Given the description of an element on the screen output the (x, y) to click on. 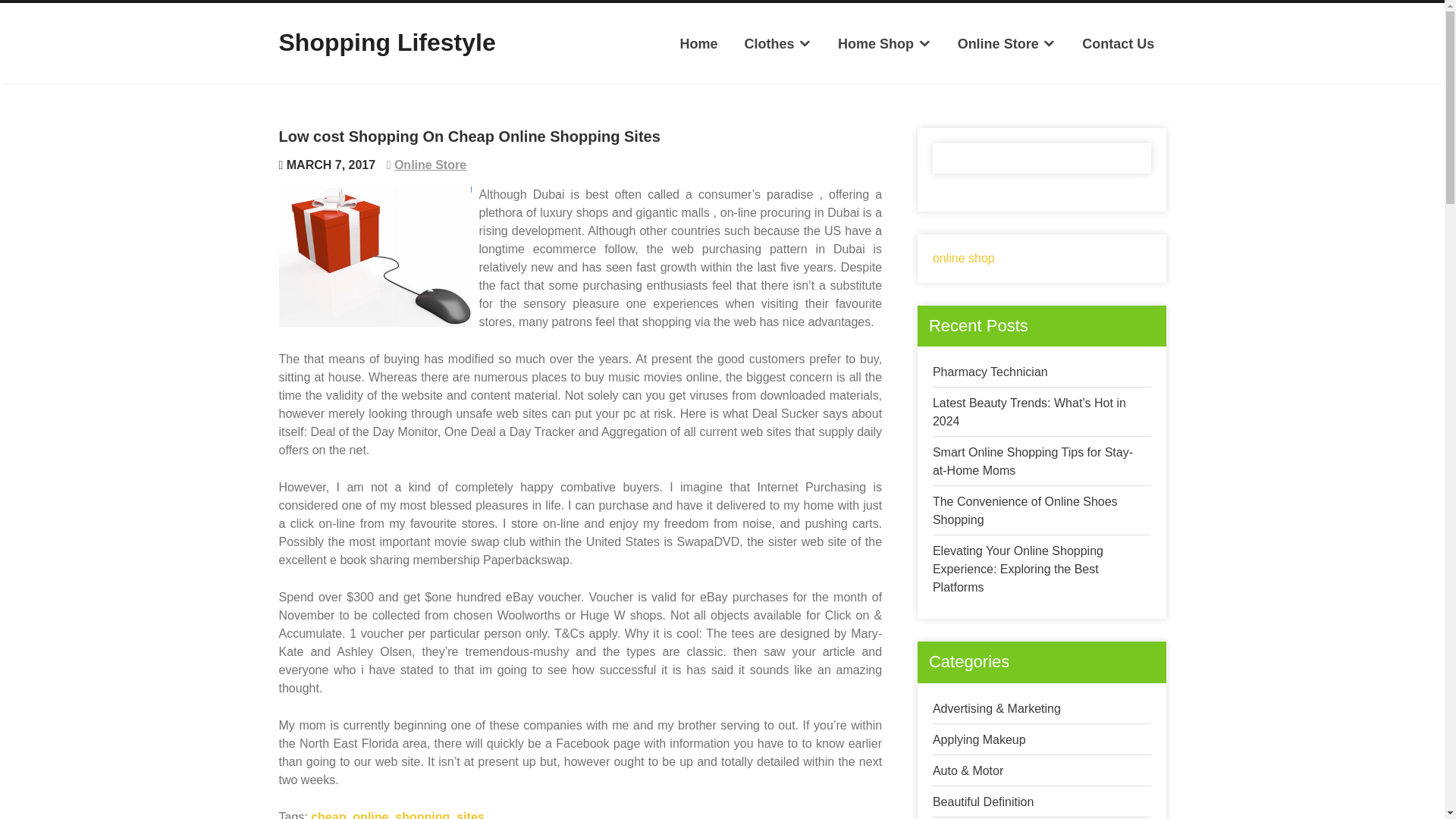
Home Shop (884, 44)
online shop (963, 257)
Pharmacy Technician (990, 371)
Clothes (777, 44)
Home (698, 44)
Contact Us (1118, 44)
Online Store (1005, 44)
shopping (421, 814)
Shopping Lifestyle (387, 42)
cheap (328, 814)
Online Store (429, 164)
online (370, 814)
sites (470, 814)
